Given the description of an element on the screen output the (x, y) to click on. 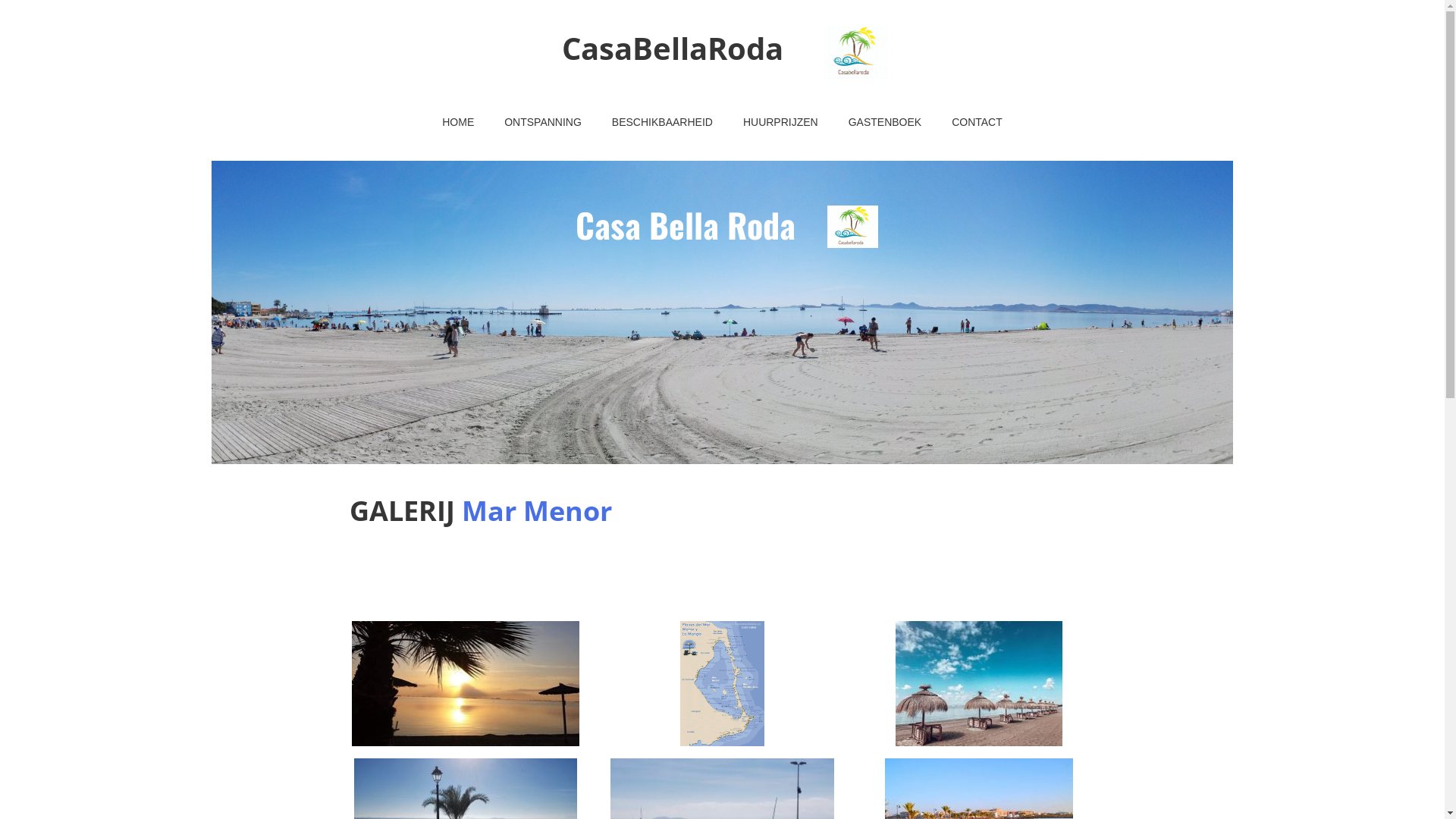
Gallerij Mar Menor (1) Element type: hover (722, 683)
BESCHIKBAARHEID Element type: text (662, 122)
IMG_3782 Element type: hover (465, 683)
HOME Element type: text (457, 122)
CONTACT Element type: text (976, 122)
ONTSPANNING Element type: text (542, 122)
HUURPRIJZEN Element type: text (780, 122)
GASTENBOEK Element type: text (884, 122)
Gallerij Mar Menor (2) Element type: hover (978, 683)
